Given the description of an element on the screen output the (x, y) to click on. 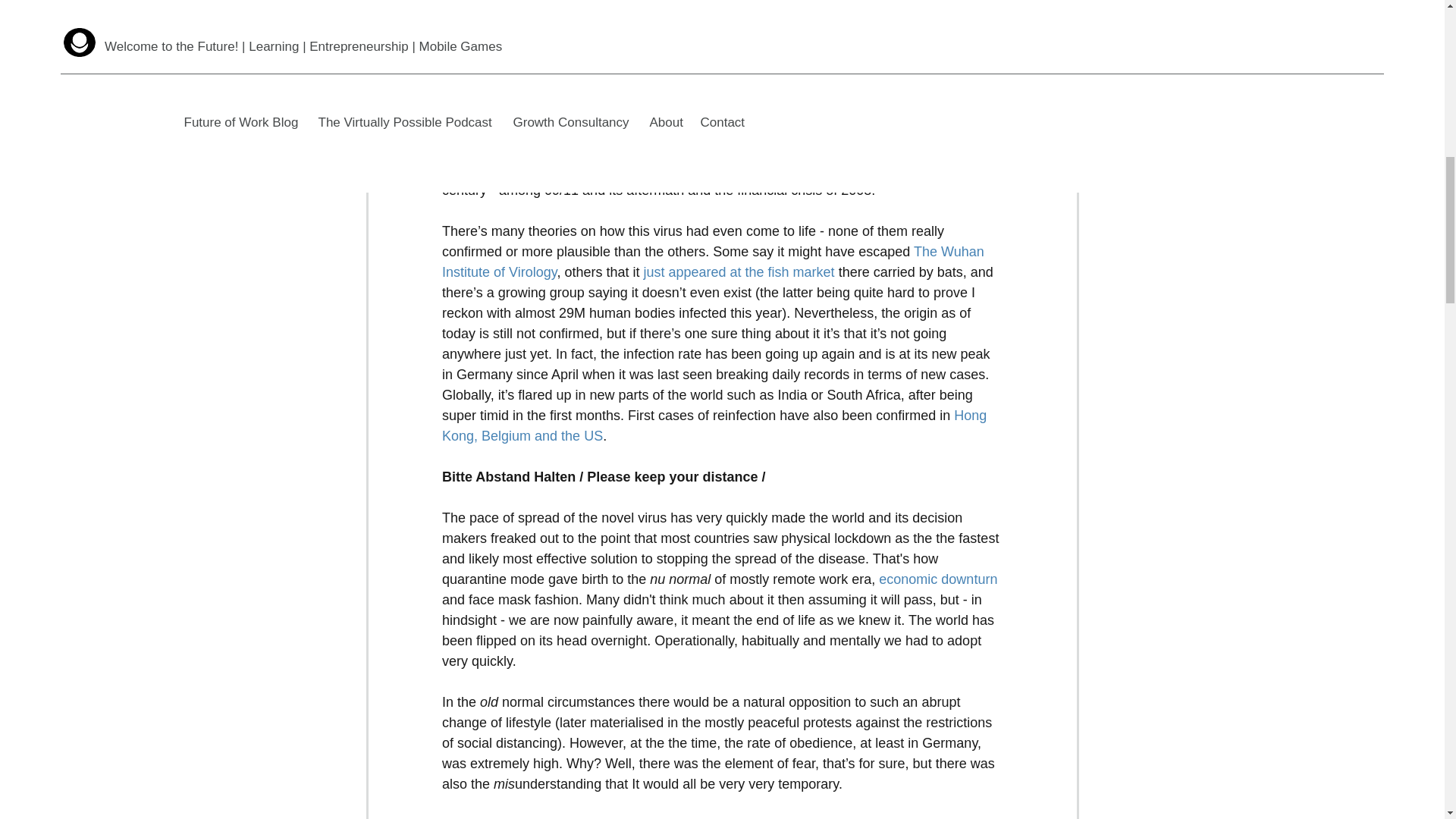
The Wuhan Institute of Virology (714, 262)
Hong Kong, Belgium and the US (715, 425)
economic downturn (938, 579)
just appeared at the fish market (738, 272)
